Given the description of an element on the screen output the (x, y) to click on. 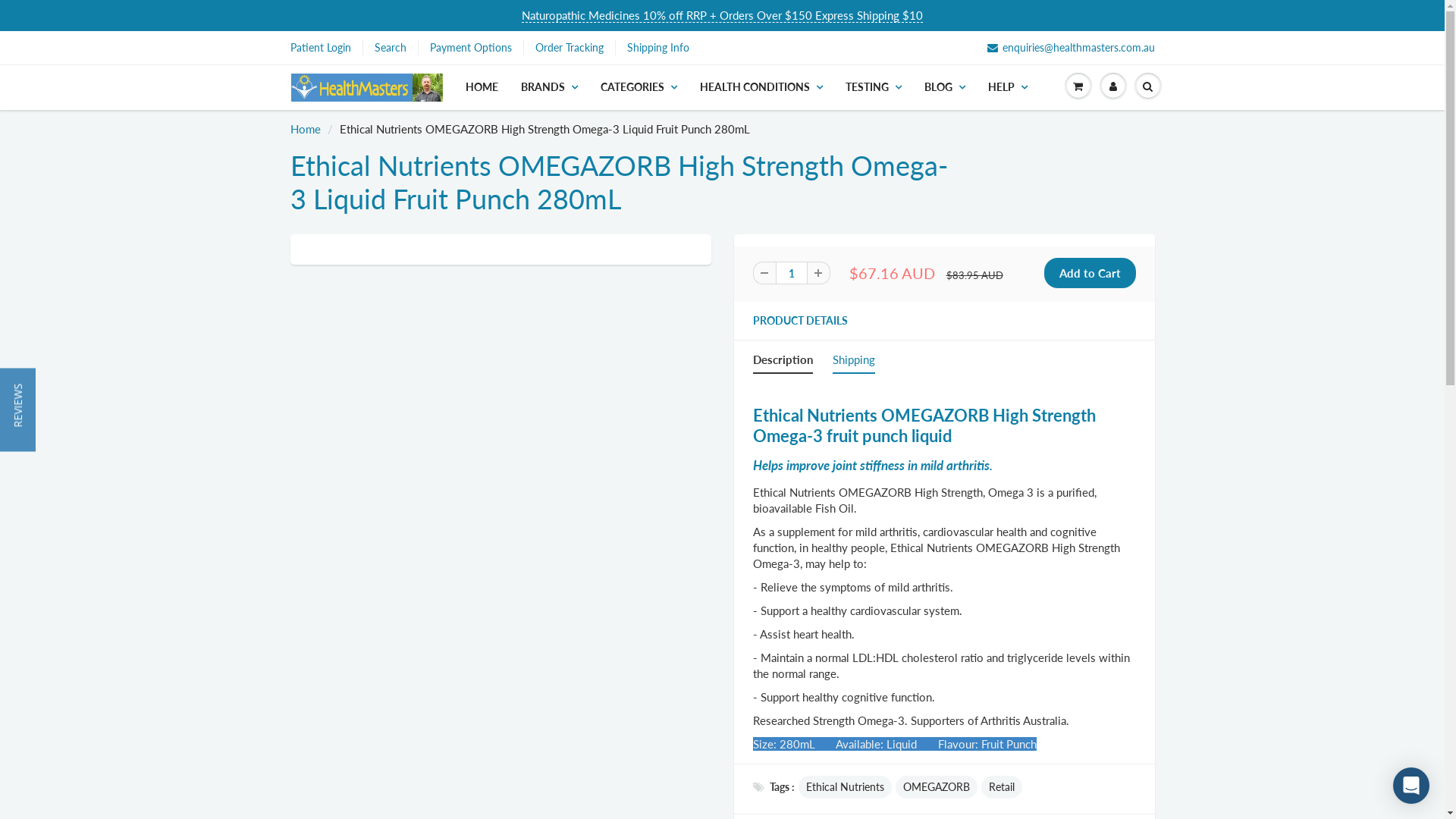
Ethical Nutrients Element type: text (844, 786)
Home Element type: text (304, 128)
enquiries@healthmasters.com.au Element type: text (1070, 47)
HEALTH CONDITIONS Element type: text (761, 86)
Payment Options Element type: text (470, 47)
BLOG Element type: text (944, 86)
TESTING Element type: text (873, 86)
OMEGAZORB Element type: text (935, 786)
Search Element type: text (390, 47)
CATEGORIES Element type: text (637, 86)
BRANDS Element type: text (549, 86)
Order Tracking Element type: text (569, 47)
Add to Cart Element type: text (1089, 272)
Retail Element type: text (1001, 786)
HELP Element type: text (1007, 86)
HOME Element type: text (480, 86)
Shipping Element type: text (853, 362)
Patient Login Element type: text (319, 47)
Description Element type: text (782, 362)
Shipping Info Element type: text (657, 47)
